Given the description of an element on the screen output the (x, y) to click on. 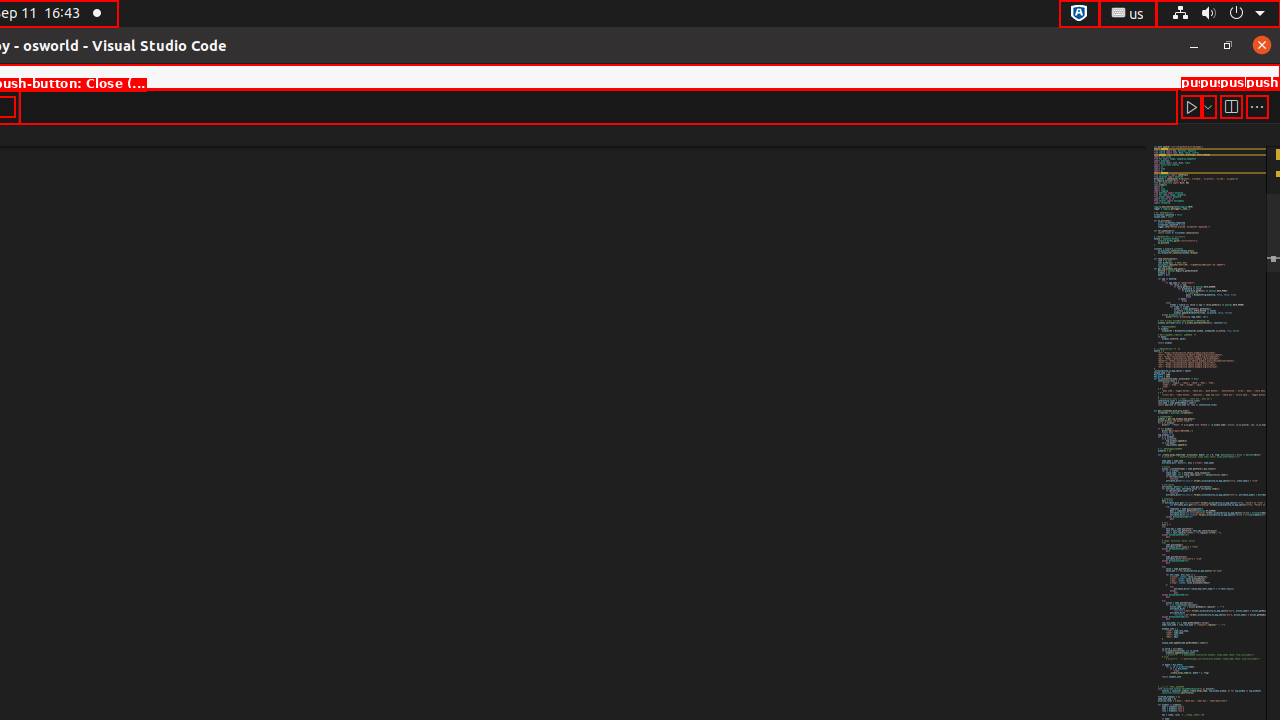
:1.21/StatusNotifierItem Element type: menu (1127, 13)
Run or Debug... Element type: push-button (1208, 106)
More Actions... Element type: push-button (1257, 106)
